Given the description of an element on the screen output the (x, y) to click on. 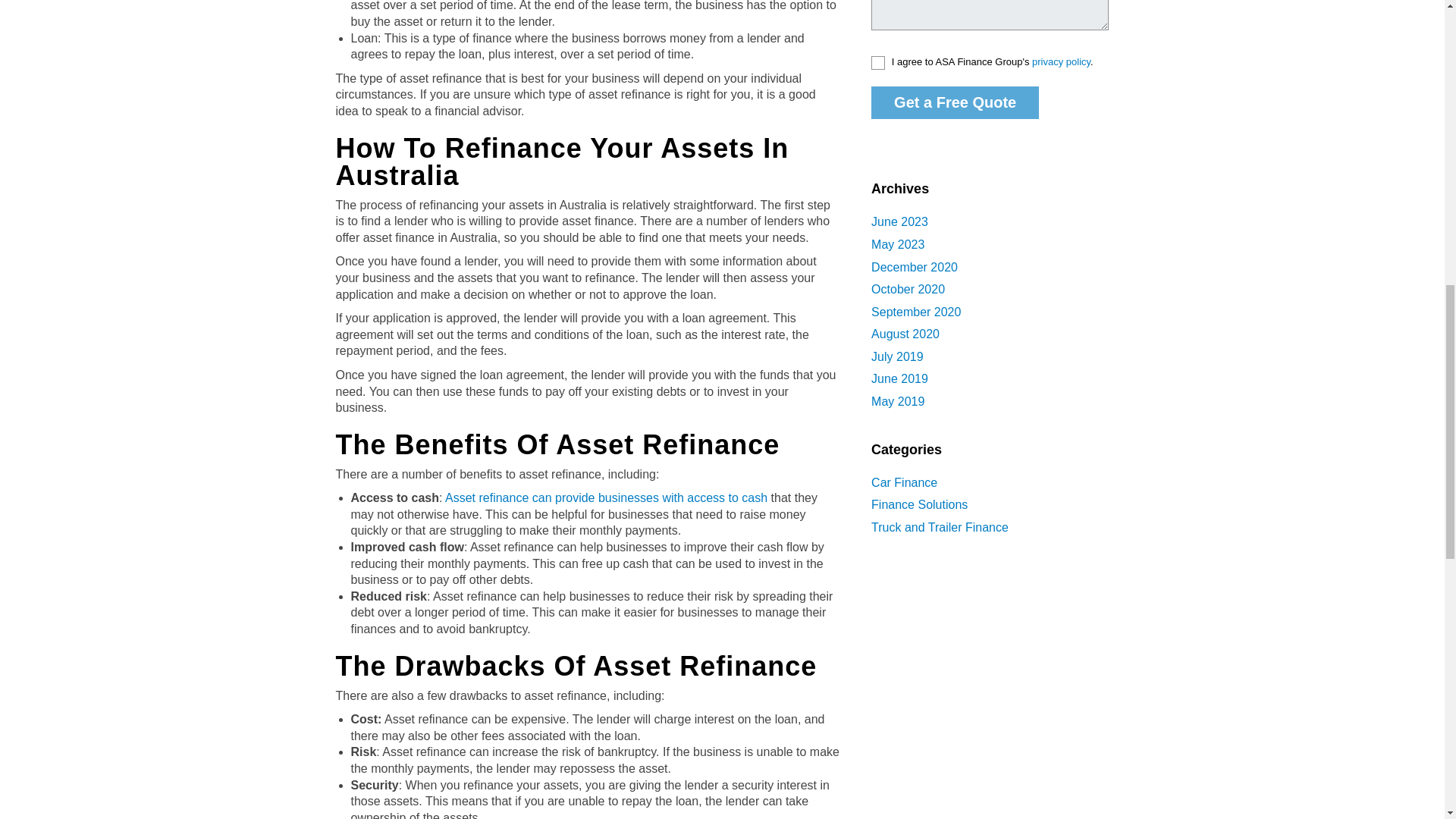
December 2020 (914, 267)
June 2019 (899, 378)
September 2020 (915, 311)
May 2019 (897, 400)
October 2020 (907, 288)
August 2020 (904, 333)
June 2023 (899, 221)
privacy policy (1061, 61)
Get a Free Quote (954, 102)
Asset refinance can provide businesses with access to cash (606, 497)
May 2023 (897, 244)
July 2019 (896, 356)
